Given the description of an element on the screen output the (x, y) to click on. 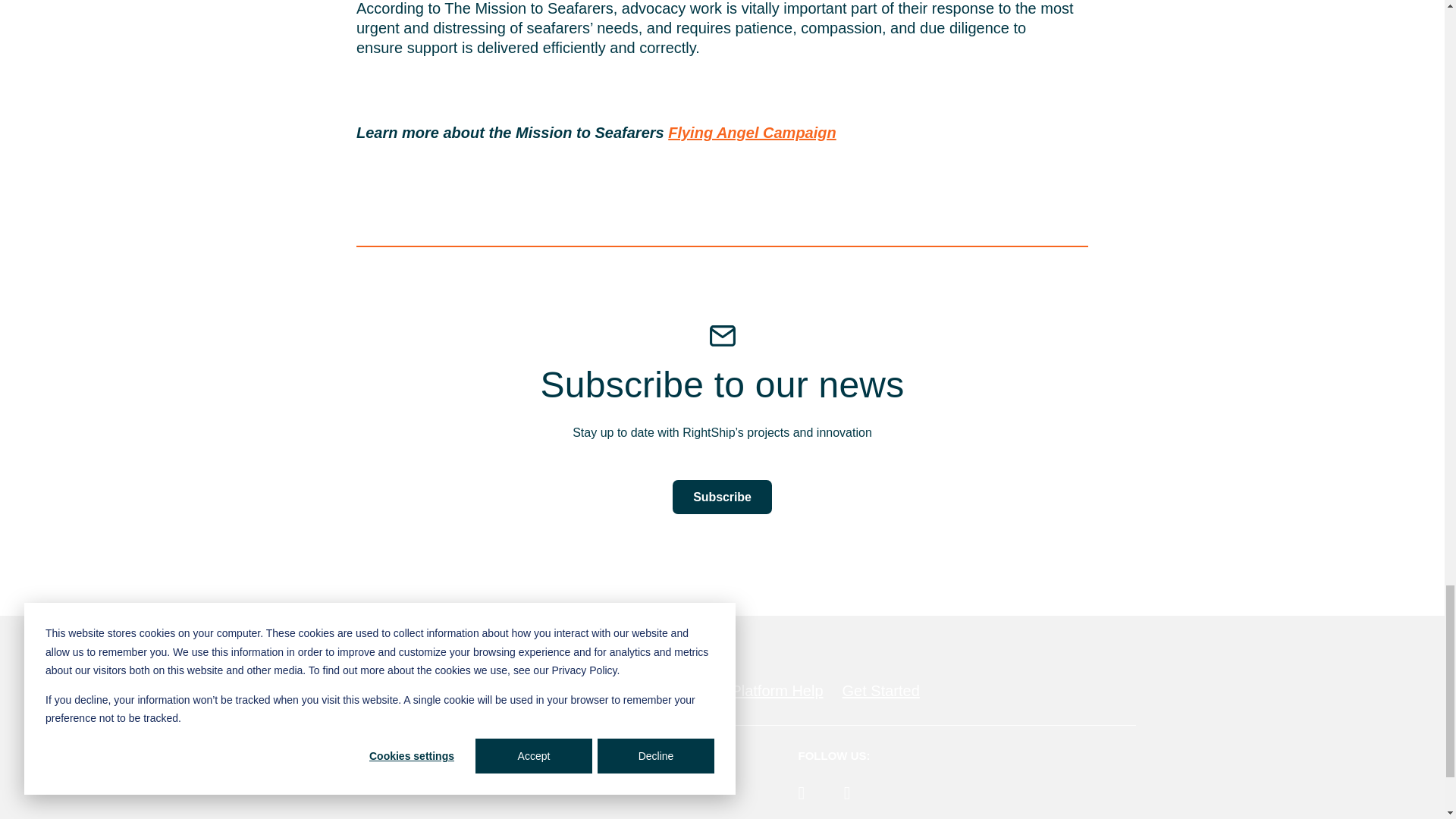
logo (273, 690)
